Given the description of an element on the screen output the (x, y) to click on. 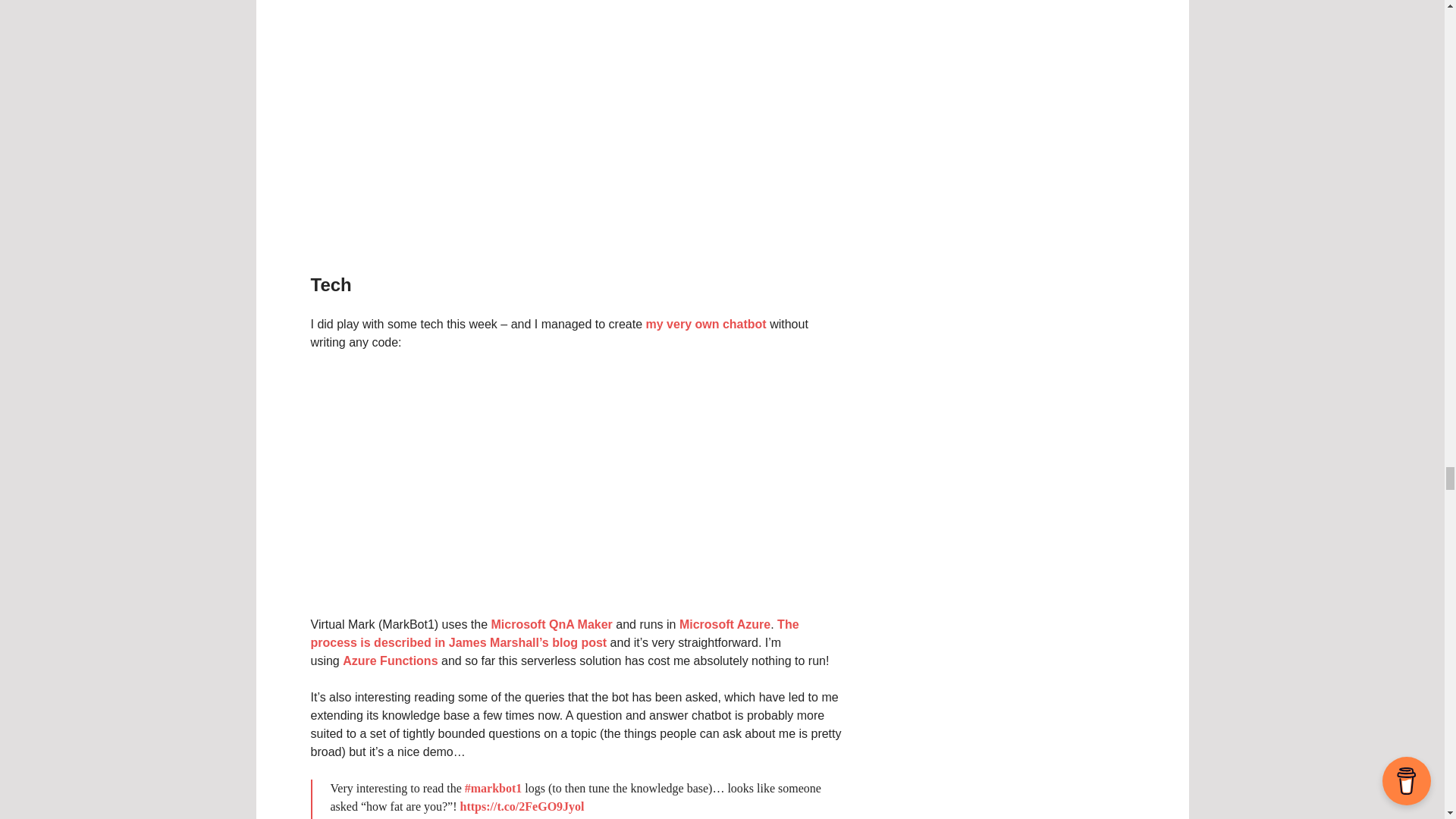
Kevin becomes a teenager - BBC comedy (576, 123)
